Given the description of an element on the screen output the (x, y) to click on. 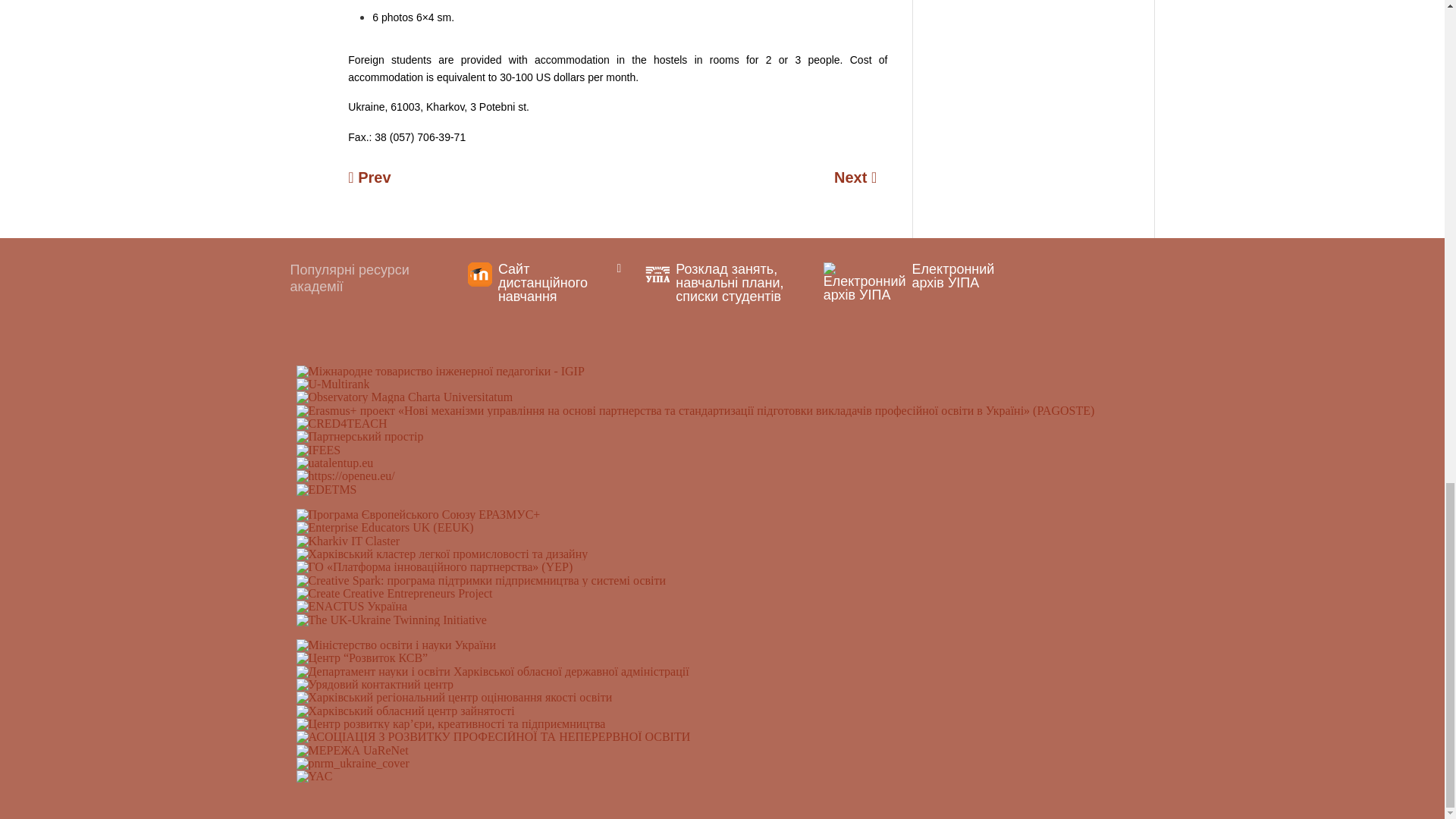
Contacts (374, 176)
Prev (374, 176)
Next (861, 176)
